Given the description of an element on the screen output the (x, y) to click on. 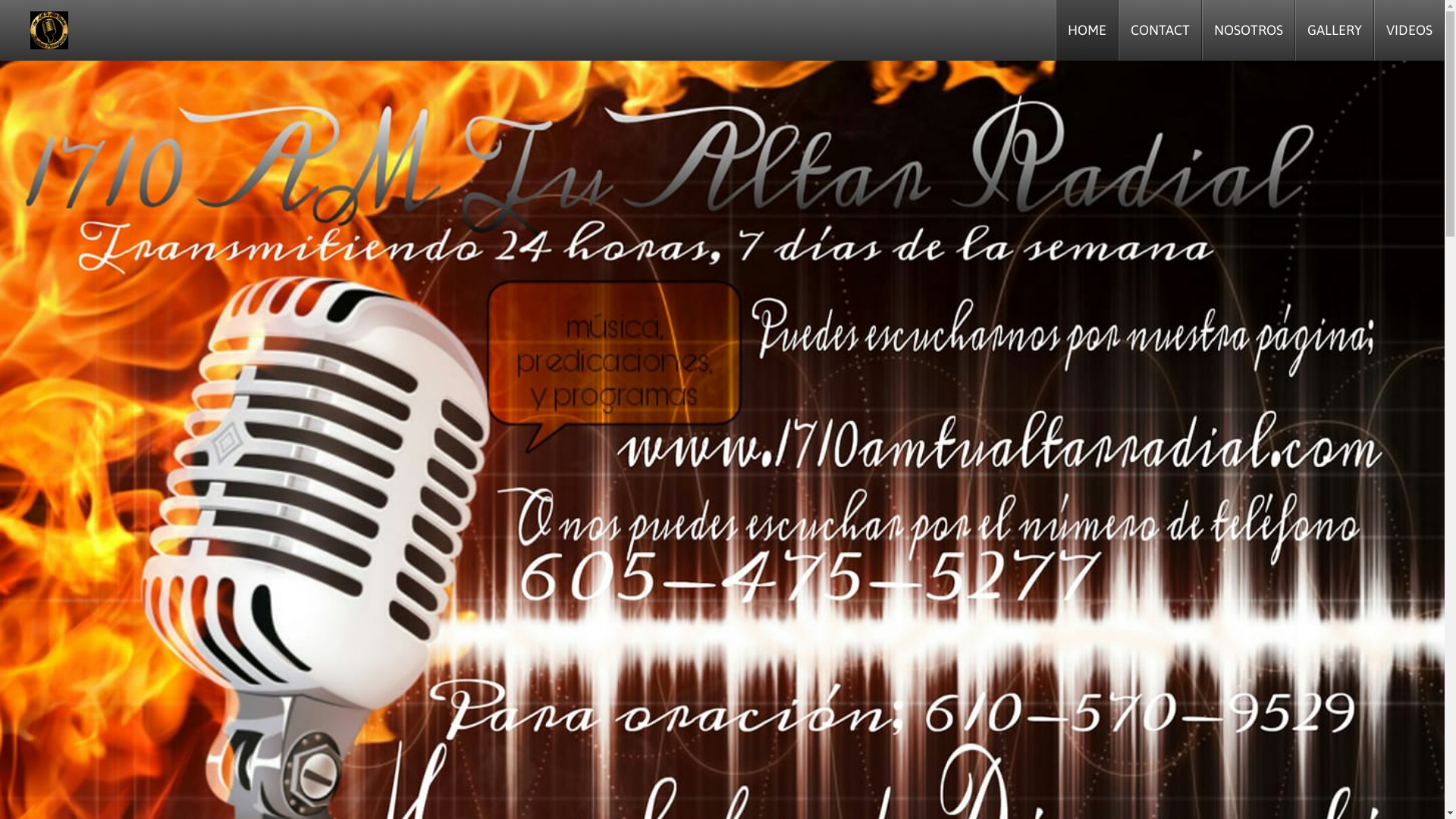
HOME Element type: text (1086, 30)
NOSOTROS Element type: text (1248, 30)
VIDEOS Element type: text (1409, 30)
GALLERY Element type: text (1334, 30)
CONTACT Element type: text (1159, 30)
